Given the description of an element on the screen output the (x, y) to click on. 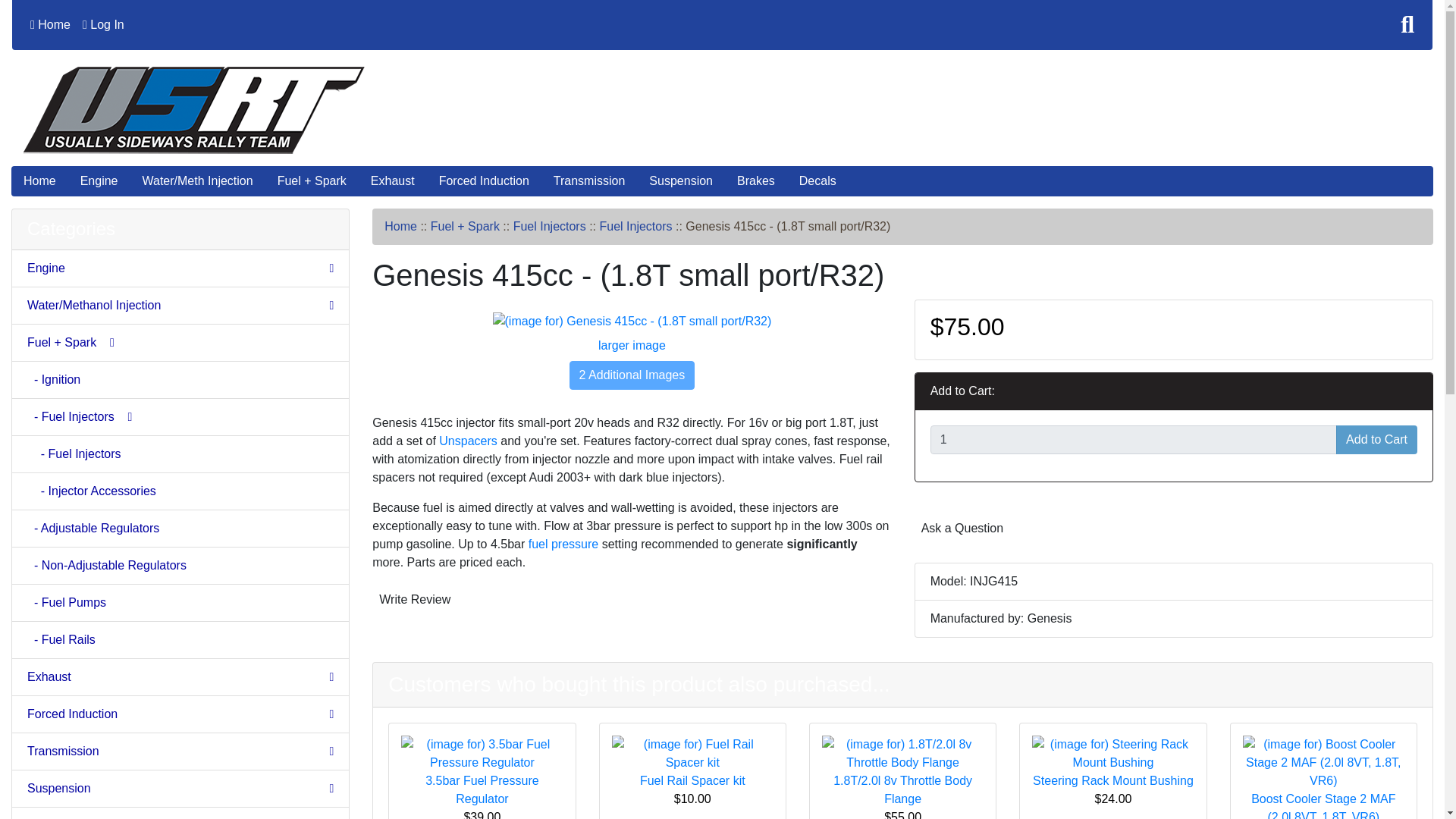
Fuel Rail Spacer kit (692, 752)
Home (50, 24)
Home (39, 181)
  - Fuel Rails (180, 640)
    - Fuel Injectors (180, 454)
Forced Induction     (180, 714)
  - Adjustable Regulators (180, 528)
Engine     (180, 268)
3.5bar Fuel Pressure Regulator (481, 753)
Log In (104, 24)
